Given the description of an element on the screen output the (x, y) to click on. 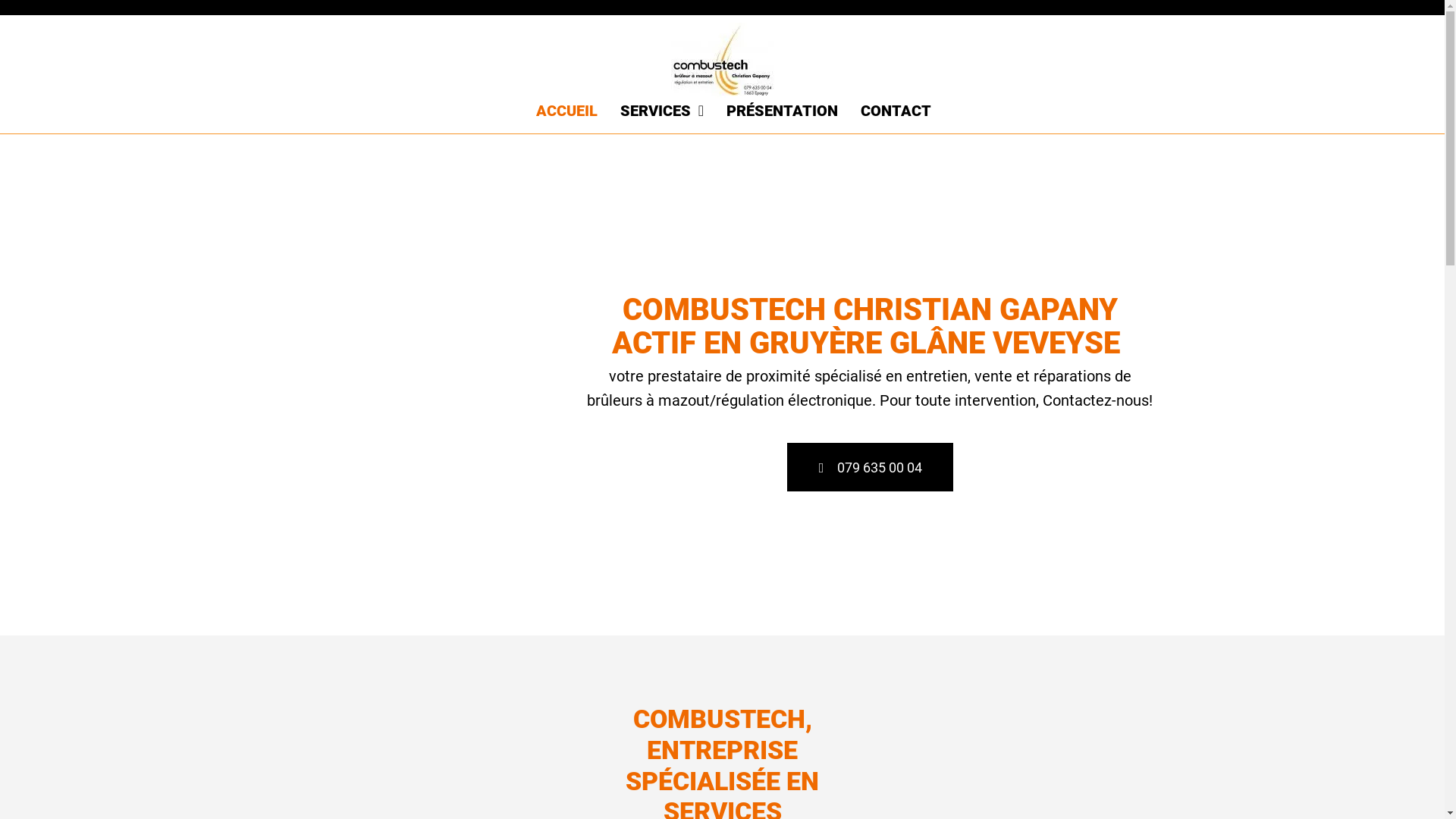
079 635 00 04 Element type: text (870, 466)
CONTACT Element type: text (895, 109)
SERVICES Element type: text (661, 109)
ACCUEIL Element type: text (566, 109)
